Given the description of an element on the screen output the (x, y) to click on. 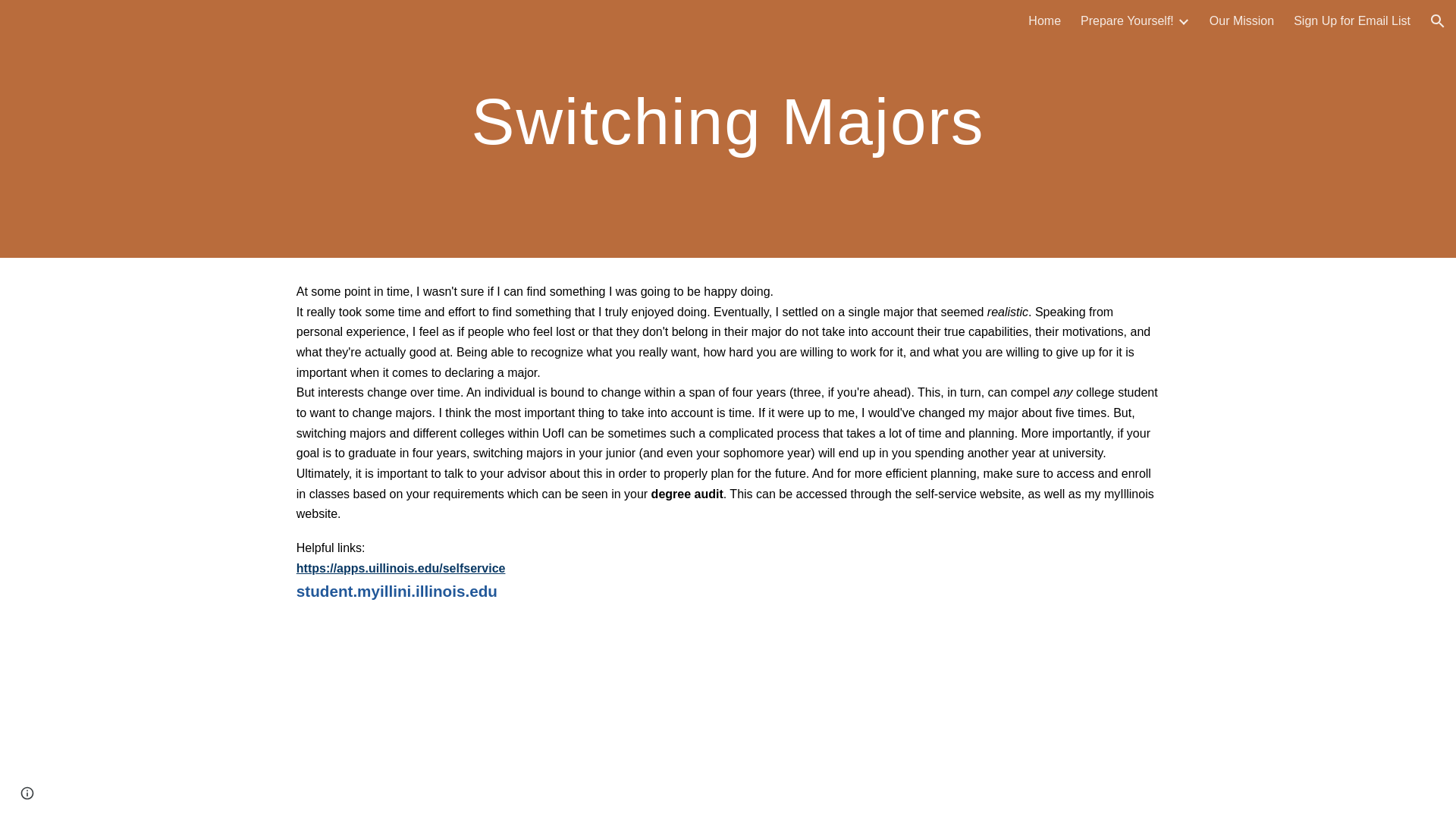
student.myillini.illinois.edu (397, 592)
Home (1044, 20)
Prepare Yourself! (1126, 20)
Our Mission (1241, 20)
Sign Up for Email List (1352, 20)
